Given the description of an element on the screen output the (x, y) to click on. 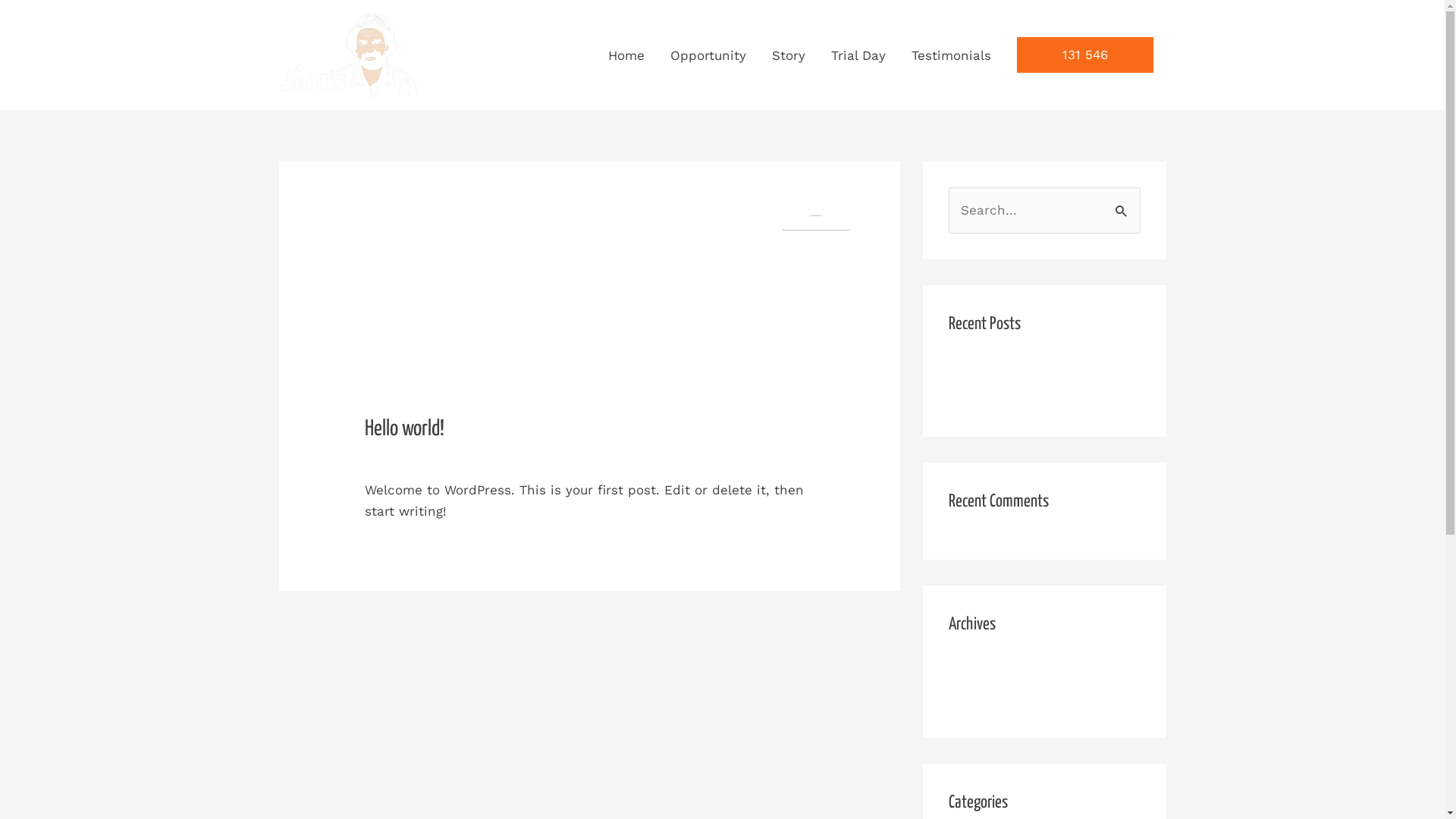
March 2019 Element type: text (984, 698)
131 546 Element type: text (1084, 54)
Hello world! Element type: text (404, 428)
Testimonials Element type: text (950, 54)
July 2019 Element type: text (977, 669)
Hello world! Element type: text (985, 397)
Search Element type: text (1122, 209)
michael Element type: text (515, 457)
Uncategorized Element type: text (410, 457)
Home Element type: text (625, 54)
Hello world! Element type: text (985, 368)
Trial Day Element type: text (857, 54)
Story Element type: text (787, 54)
Opportunity Element type: text (707, 54)
